Given the description of an element on the screen output the (x, y) to click on. 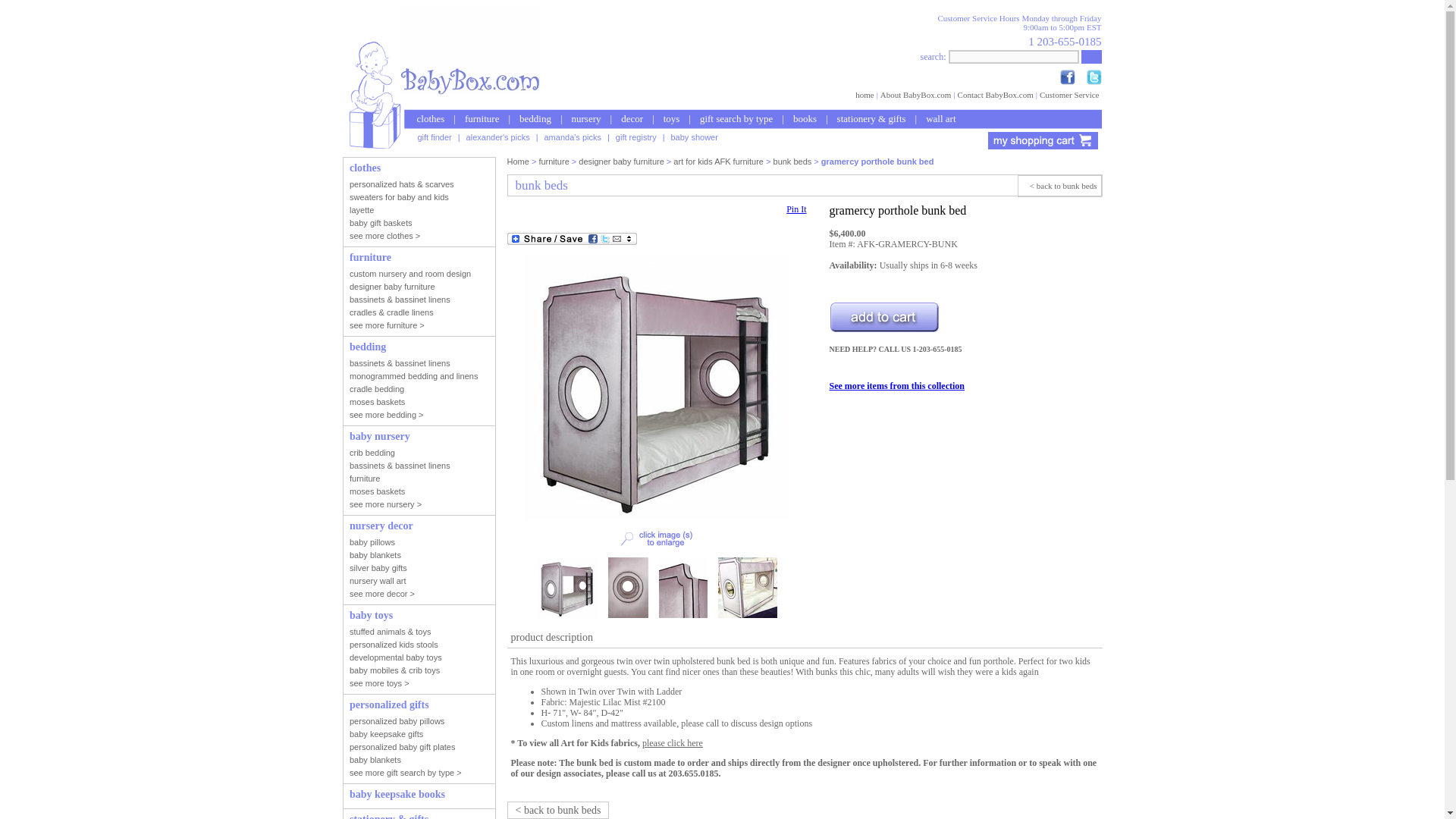
baby keepsake books (804, 118)
Contact BabyBox.com (995, 93)
amanda's picks (572, 136)
personalized gifts (735, 118)
gramercy porthole bunk bed (656, 516)
nursery decor (631, 118)
furniture (481, 118)
bunk beds (792, 161)
furniture (553, 161)
gift services (636, 136)
baby toys (670, 118)
nursery wall art (940, 118)
clothes (430, 118)
home (864, 93)
alexander's picks (497, 136)
